Given the description of an element on the screen output the (x, y) to click on. 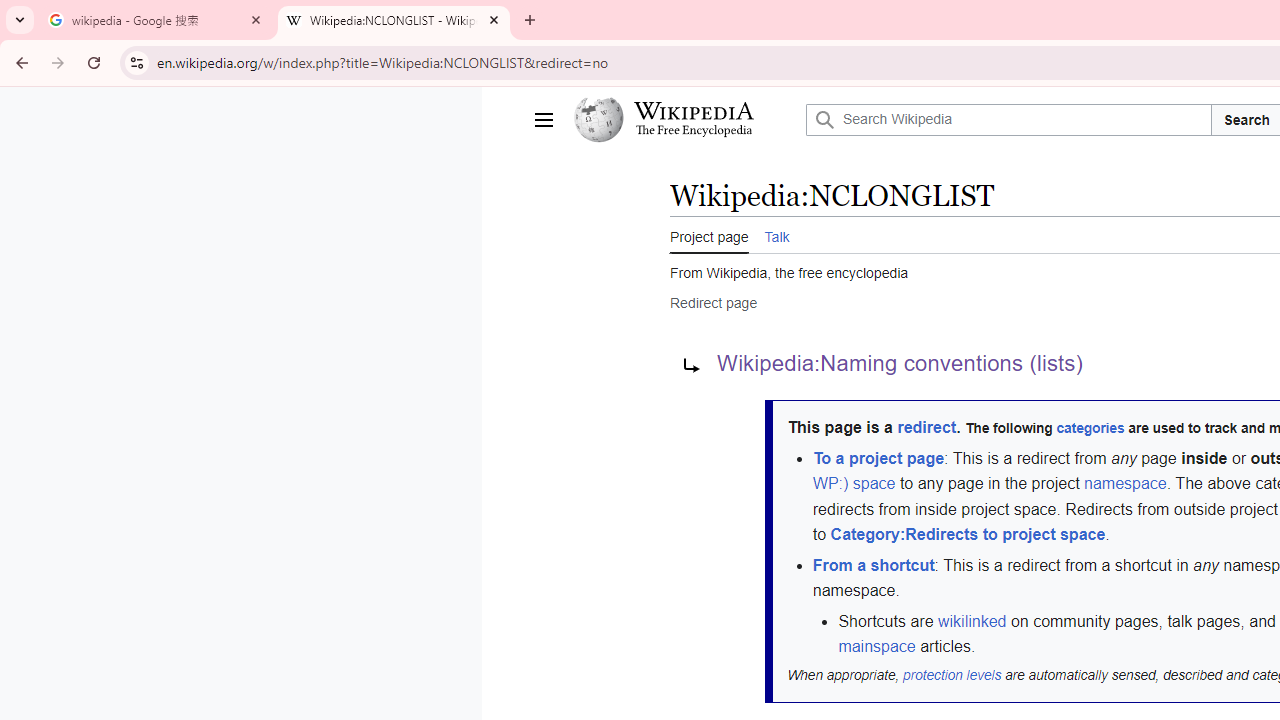
redirect (927, 428)
Project page (708, 235)
Search tabs (20, 20)
Wikipedia (693, 111)
To a project page (877, 458)
Category:Redirects to project space (967, 535)
wikilinked (971, 621)
Back (19, 62)
Search Wikipedia (1009, 119)
mainspace (877, 646)
From a shortcut (872, 564)
categories (1090, 429)
Reload (93, 62)
Main menu (543, 119)
